Given the description of an element on the screen output the (x, y) to click on. 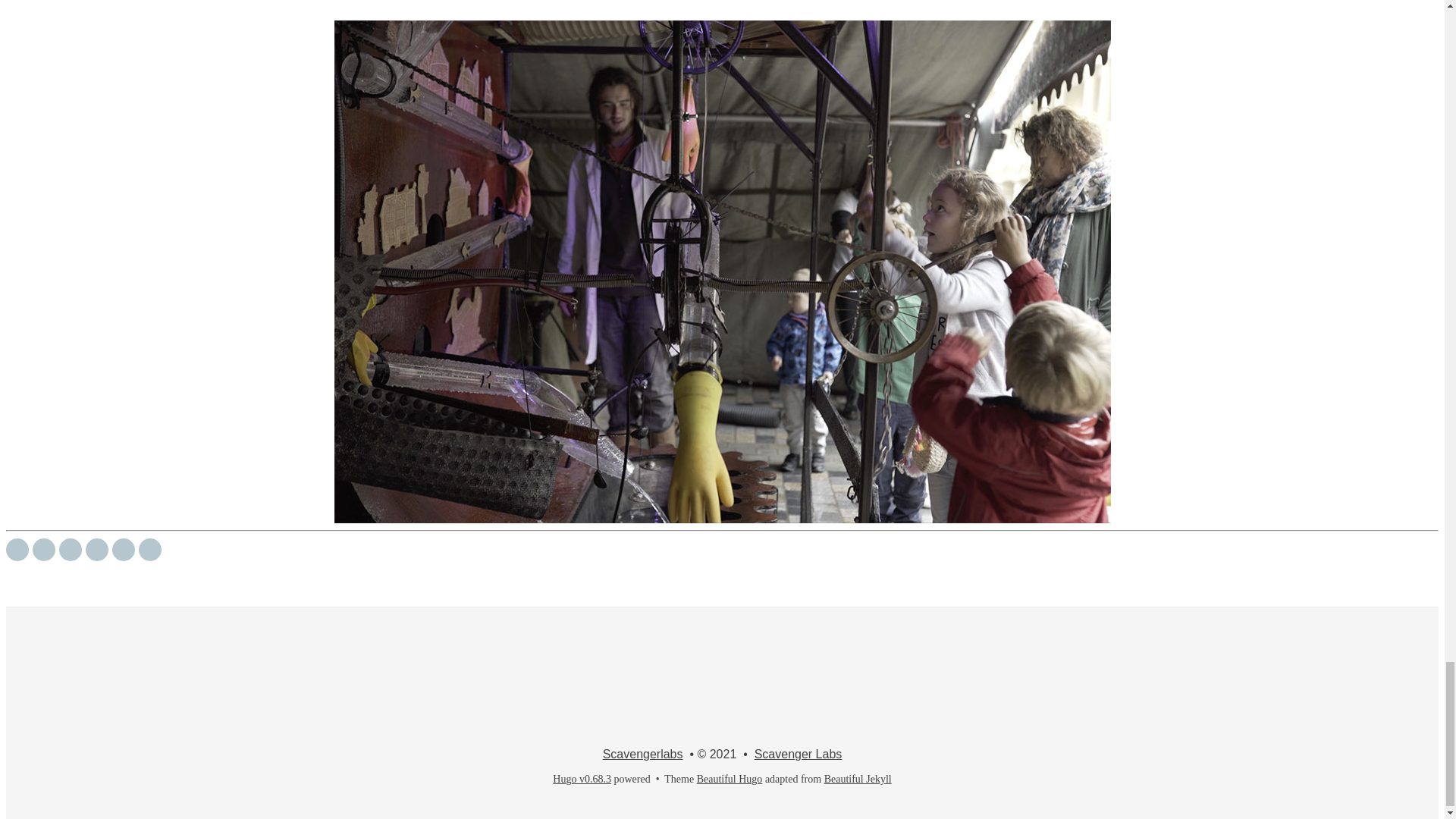
Share on Reddit (70, 549)
Share on LinkedIn (96, 549)
Share on Facebook (43, 549)
Share on StumbleUpon (123, 549)
Share on Pinterest (149, 549)
Share on Twitter (17, 549)
